Given the description of an element on the screen output the (x, y) to click on. 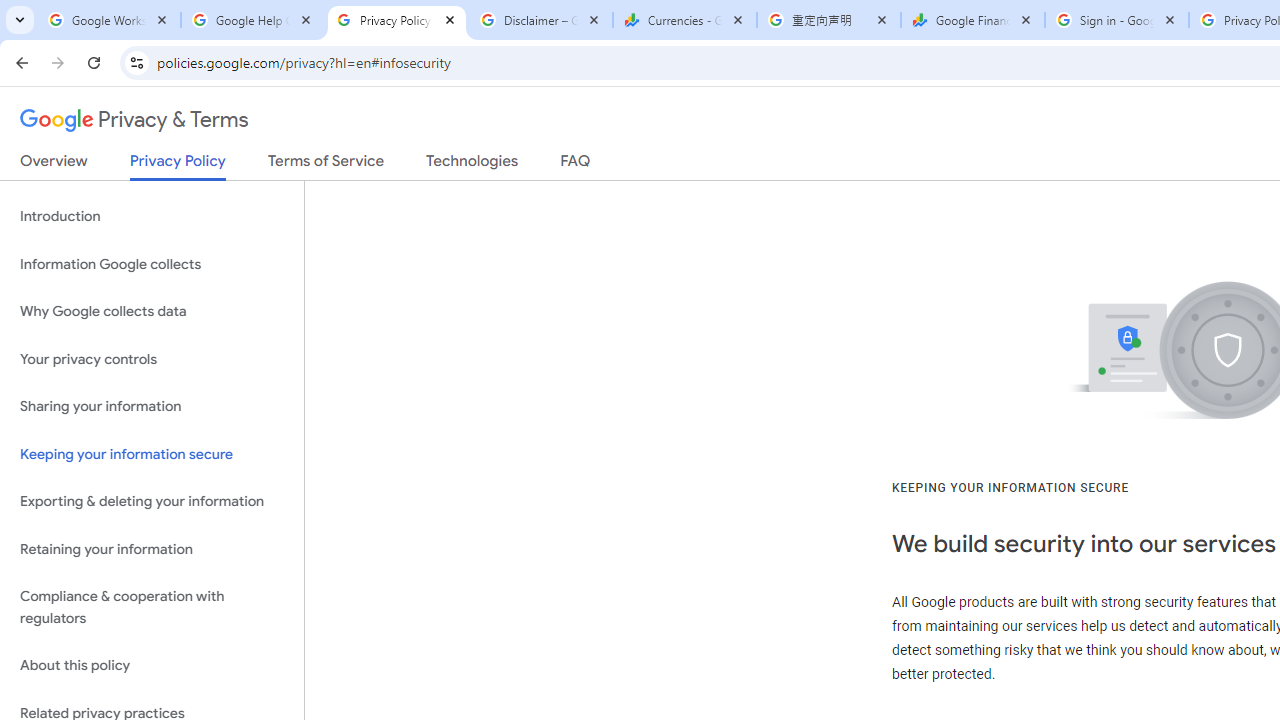
Google Workspace Admin Community (108, 20)
Sign in - Google Accounts (1116, 20)
